Given the description of an element on the screen output the (x, y) to click on. 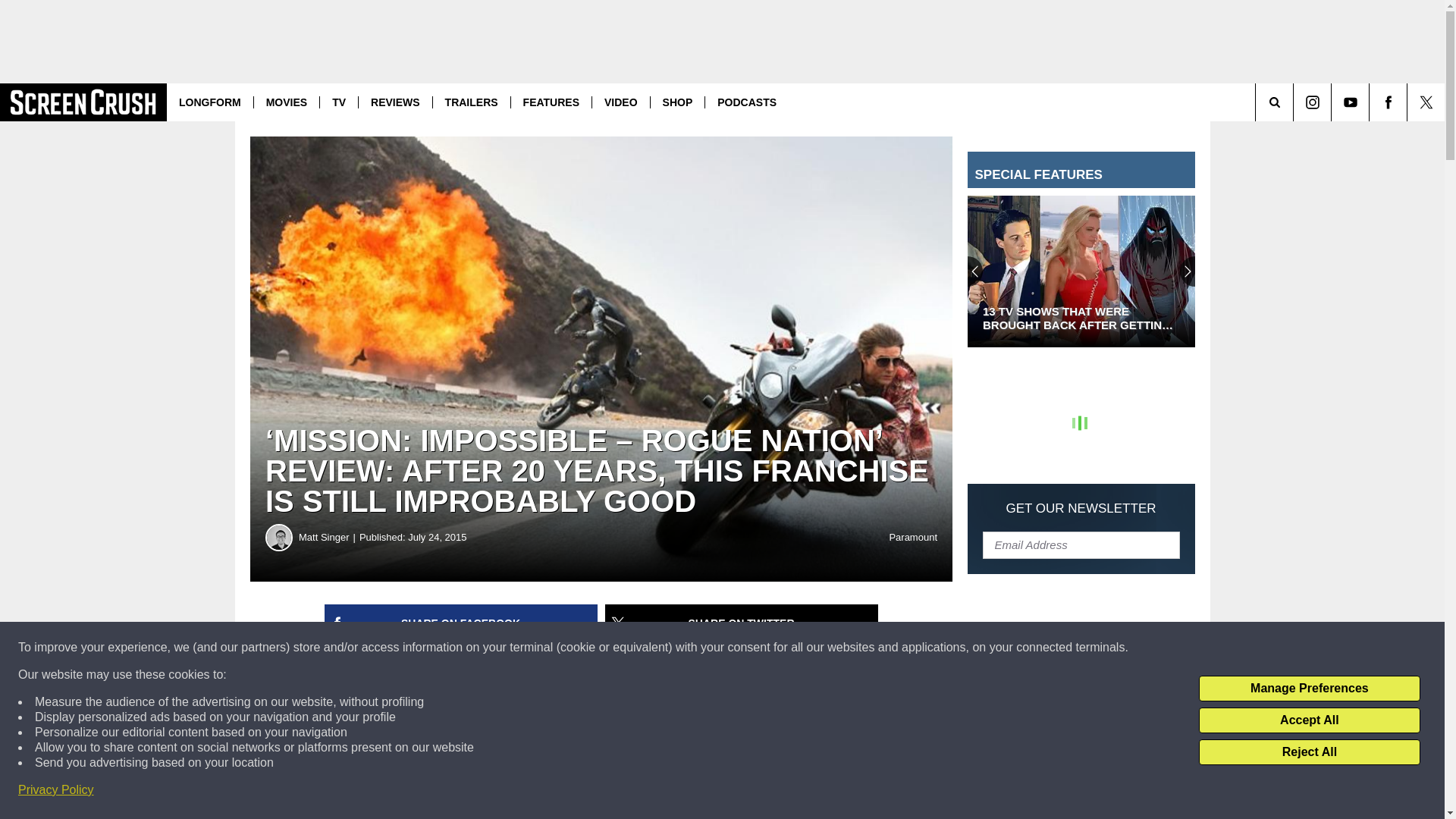
VIDEO (620, 102)
Accept All (1309, 720)
SHARE ON FACEBOOK (460, 623)
Share on Facebook (460, 623)
LONGFORM (210, 102)
Matt Singer (278, 537)
Matt Singer (328, 537)
REVIEWS (395, 102)
Manage Preferences (1309, 688)
PODCASTS (746, 102)
